Given the description of an element on the screen output the (x, y) to click on. 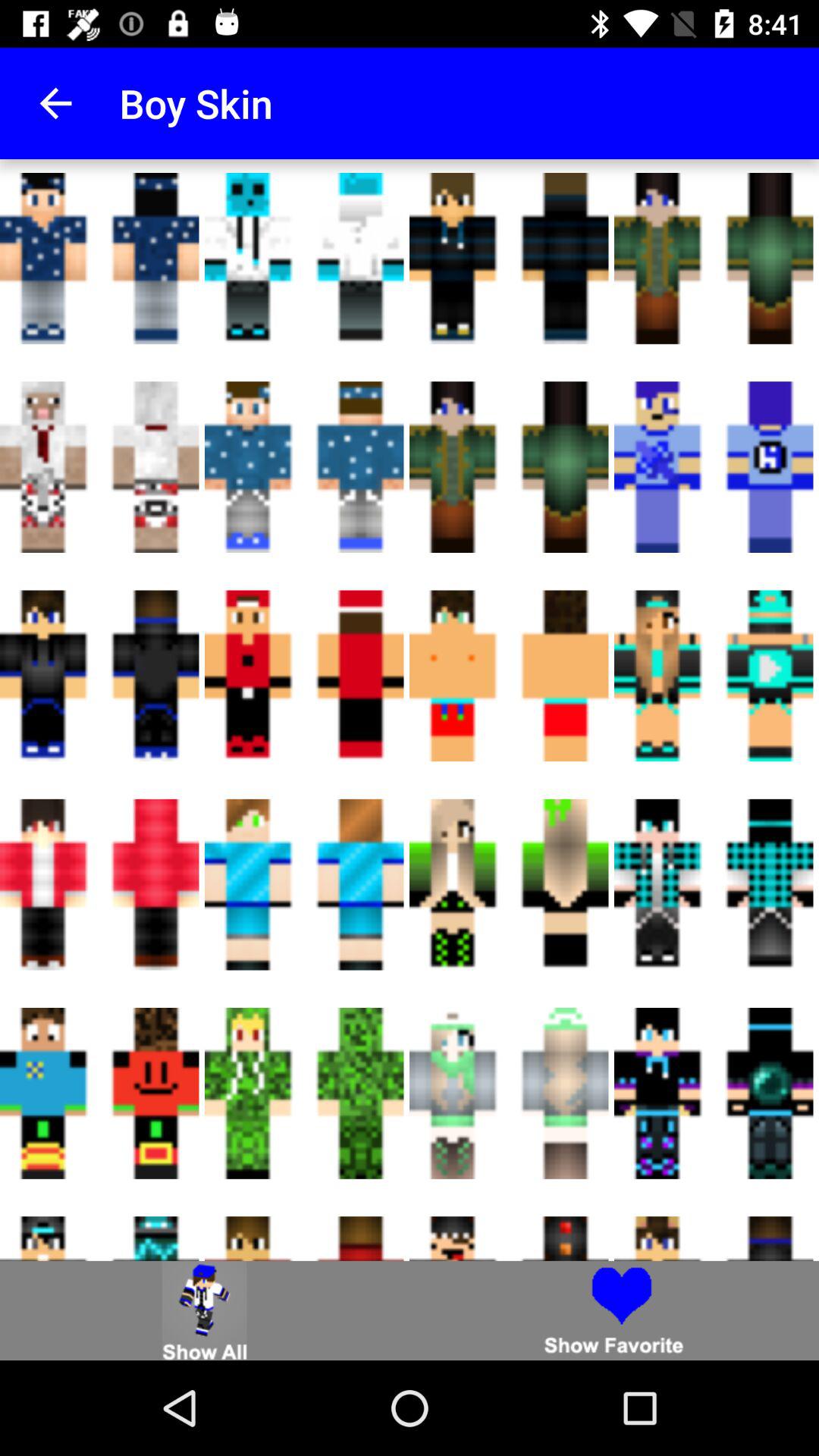
click show all (204, 1310)
